Given the description of an element on the screen output the (x, y) to click on. 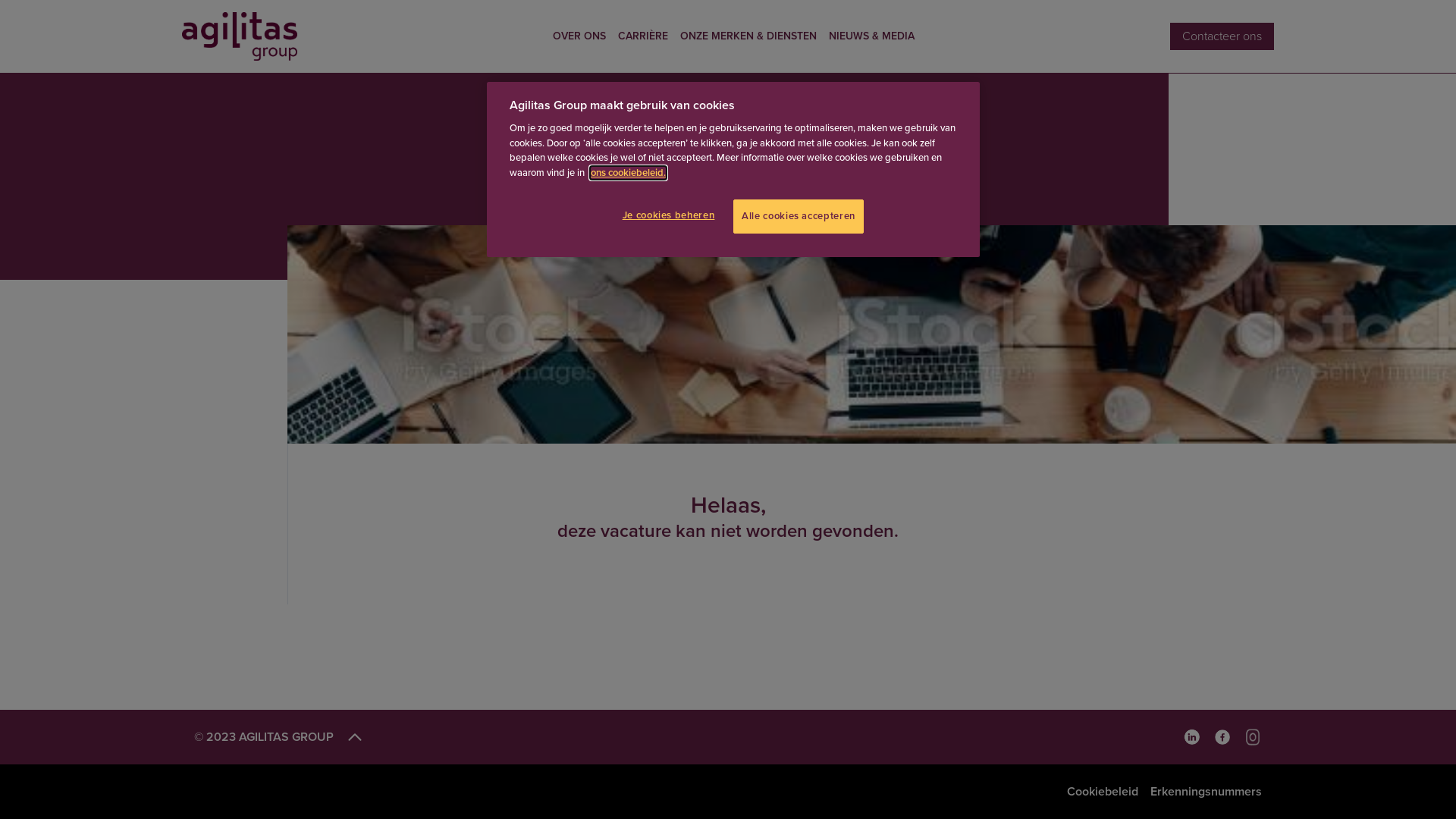
Je cookies beheren Element type: text (672, 215)
Alle cookies accepteren Element type: text (798, 215)
Erkenningsnummers Element type: text (1205, 791)
Contacteer ons Element type: text (1222, 36)
ONZE MERKEN & DIENSTEN Element type: text (748, 36)
NIEUWS & MEDIA Element type: text (871, 36)
ons cookiebeleid. Element type: text (627, 172)
OVER ONS Element type: text (578, 36)
Cookiebeleid Element type: text (1102, 791)
